Given the description of an element on the screen output the (x, y) to click on. 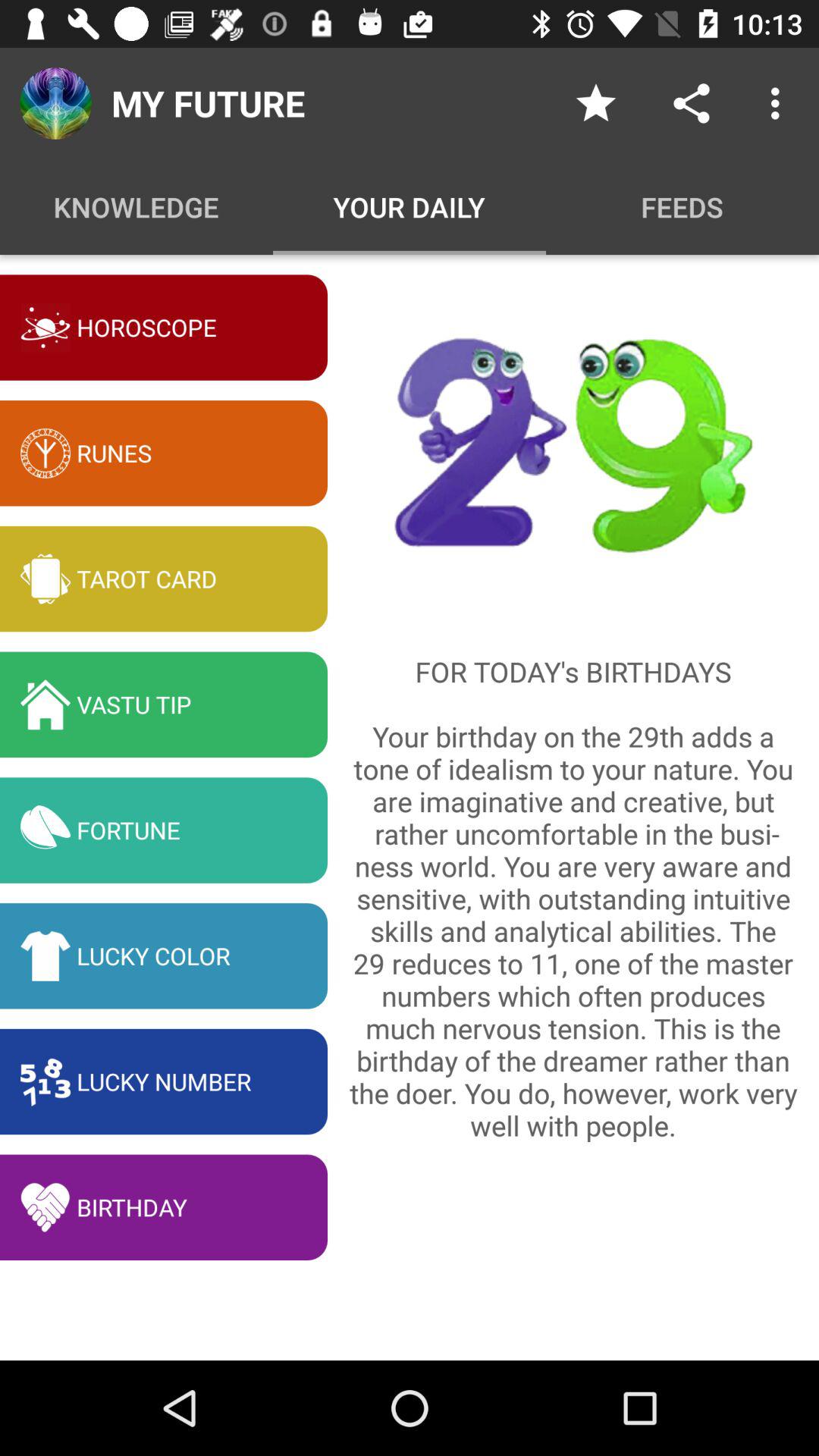
select item to the right of the my future item (595, 103)
